Given the description of an element on the screen output the (x, y) to click on. 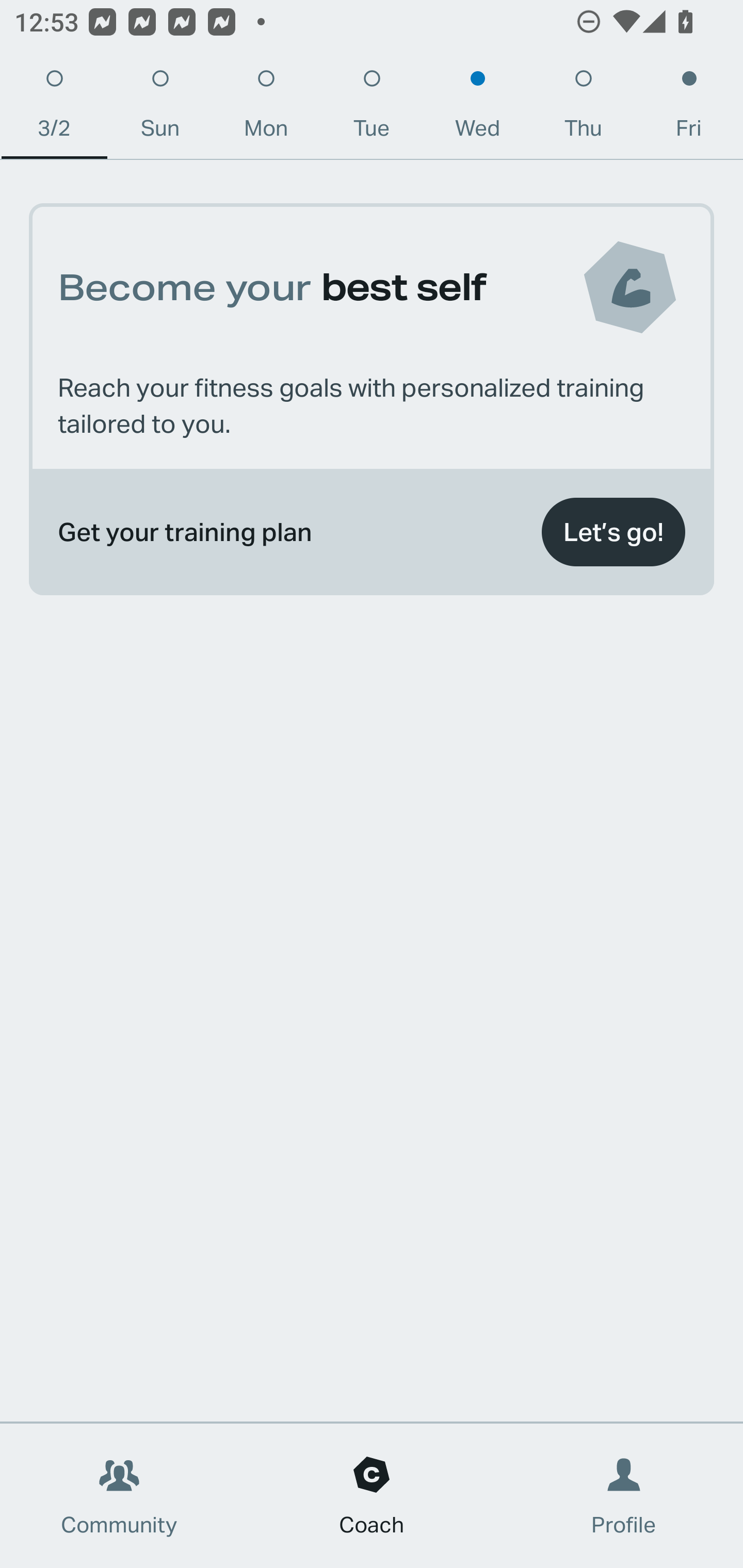
3/2 (53, 108)
Sun (159, 108)
Mon (265, 108)
Tue (371, 108)
Wed (477, 108)
Thu (583, 108)
Fri (689, 108)
Let’s go! (613, 532)
Community (119, 1495)
Profile (624, 1495)
